Given the description of an element on the screen output the (x, y) to click on. 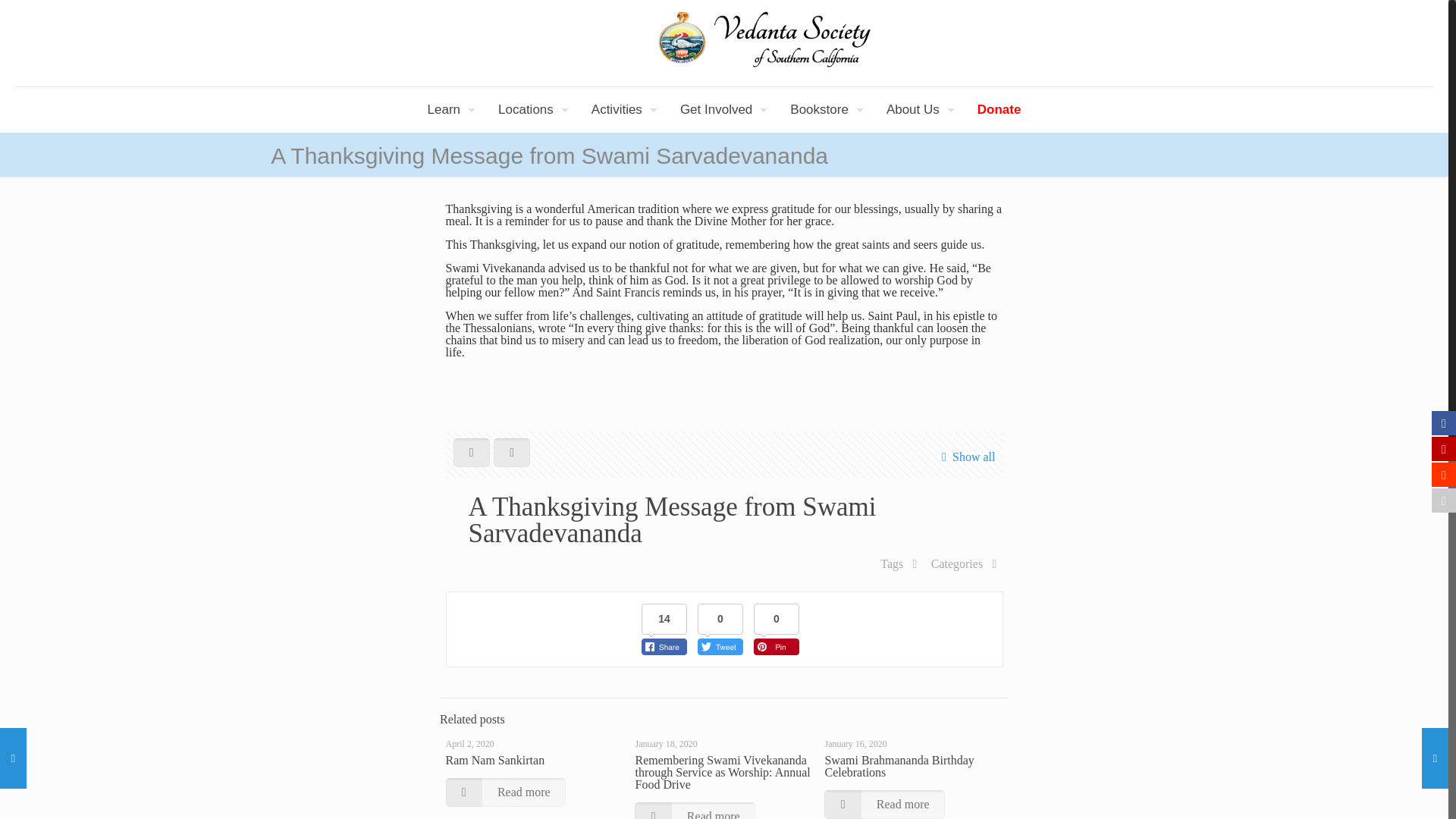
Learn (447, 109)
Locations (529, 109)
Vedanta Society of Southern California (723, 43)
